Given the description of an element on the screen output the (x, y) to click on. 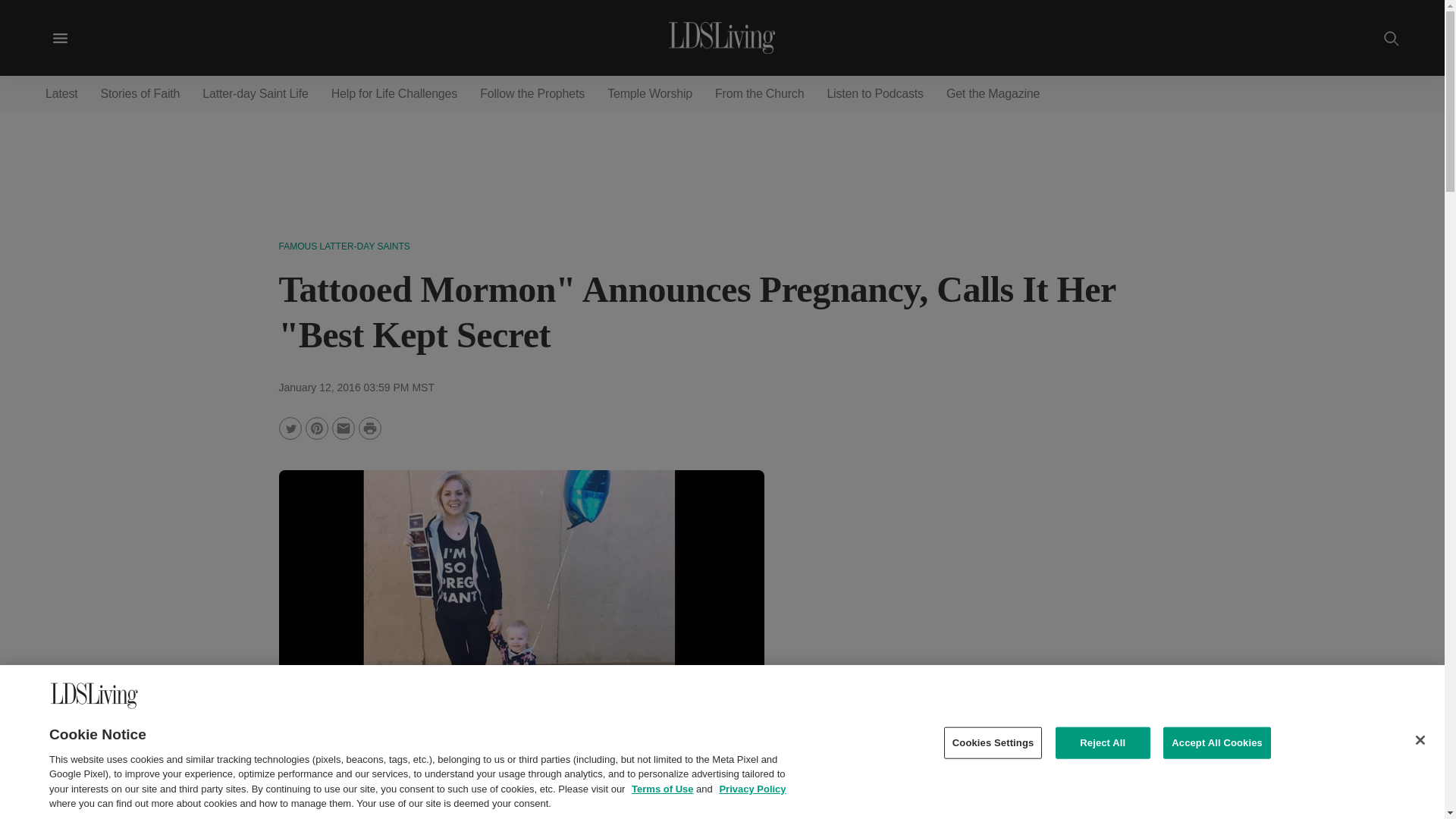
Follow the Prophets (531, 94)
Temple Worship (649, 94)
Pinterest (315, 427)
Print (369, 427)
Latter-day Saint Life (255, 94)
Menu (59, 37)
3rd party ad content (721, 153)
3rd party ad content (1050, 576)
Company Logo (94, 695)
Listen to Podcasts (874, 94)
From the Church (758, 94)
Stories of Faith (140, 94)
Help for Life Challenges (393, 94)
Twitter (290, 427)
Get the Magazine (992, 94)
